Given the description of an element on the screen output the (x, y) to click on. 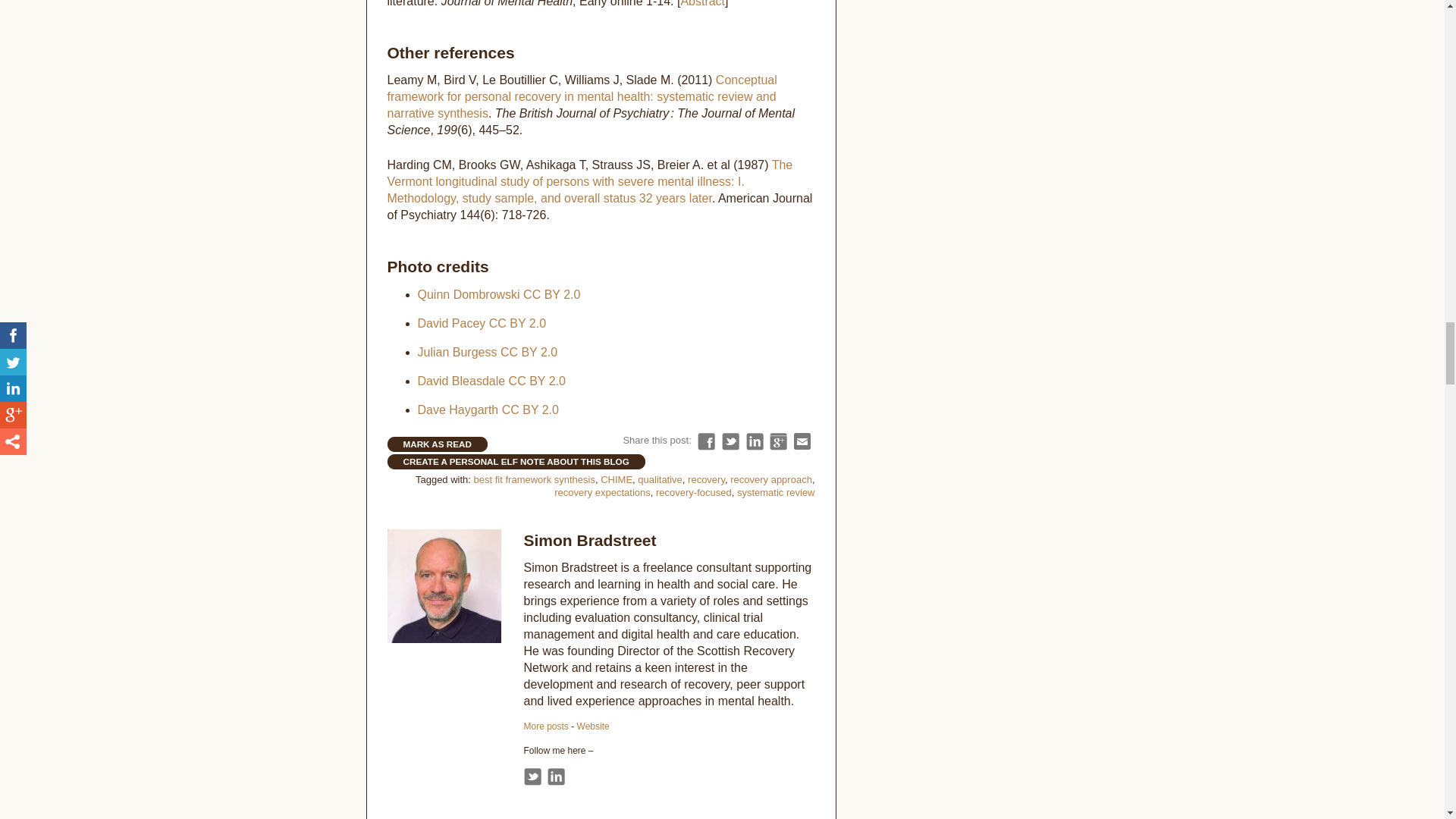
Share via email (801, 440)
Tweet this on Twitter (730, 440)
Simon Bradstreet (544, 726)
LinkedIn (555, 776)
Share on LinkedIn (753, 440)
Share on Facebook (705, 440)
Twitter (531, 776)
Simon Bradstreet (589, 538)
